Given the description of an element on the screen output the (x, y) to click on. 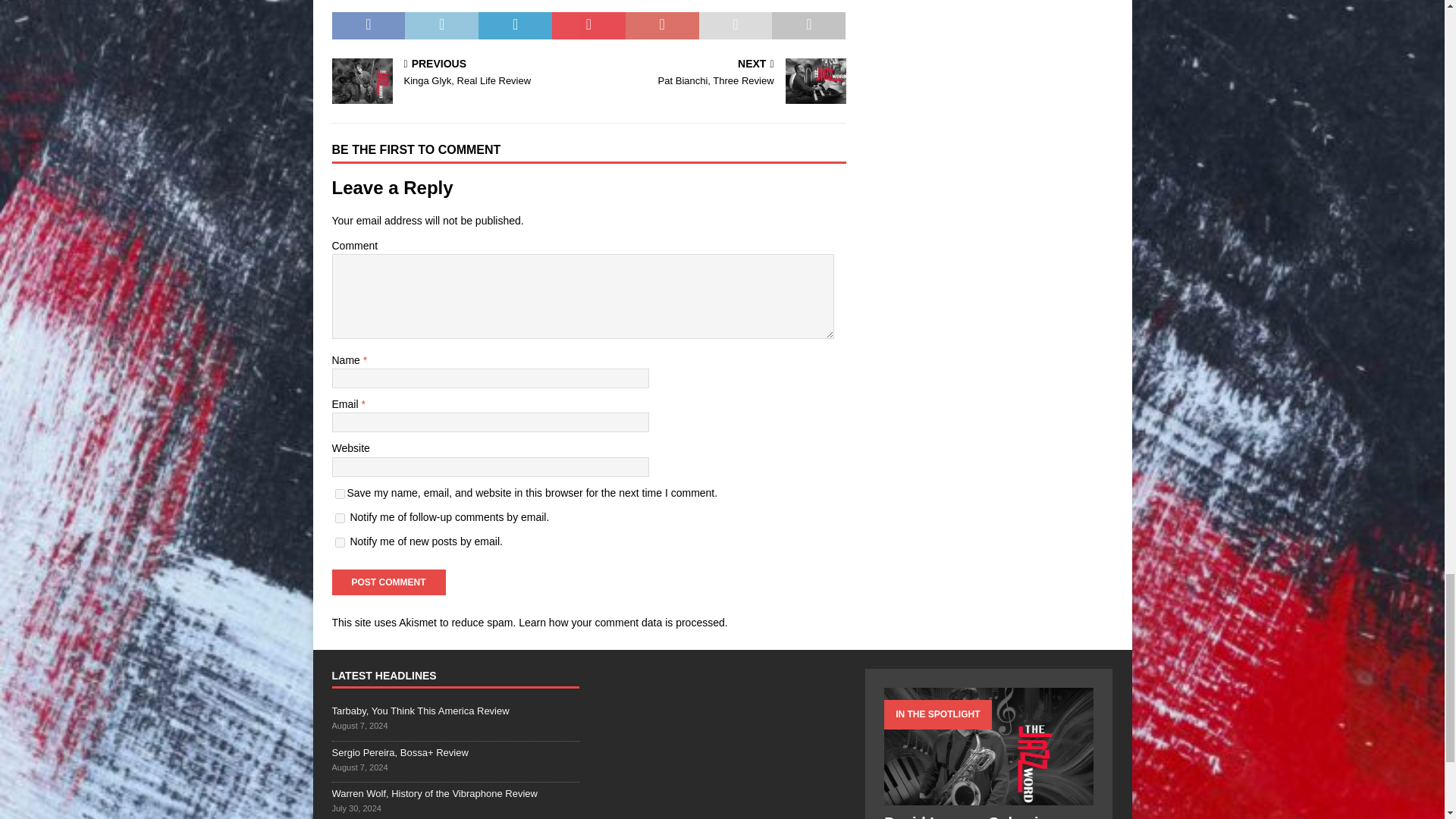
yes (339, 492)
subscribe (339, 542)
Post Comment (388, 582)
subscribe (339, 518)
